Given the description of an element on the screen output the (x, y) to click on. 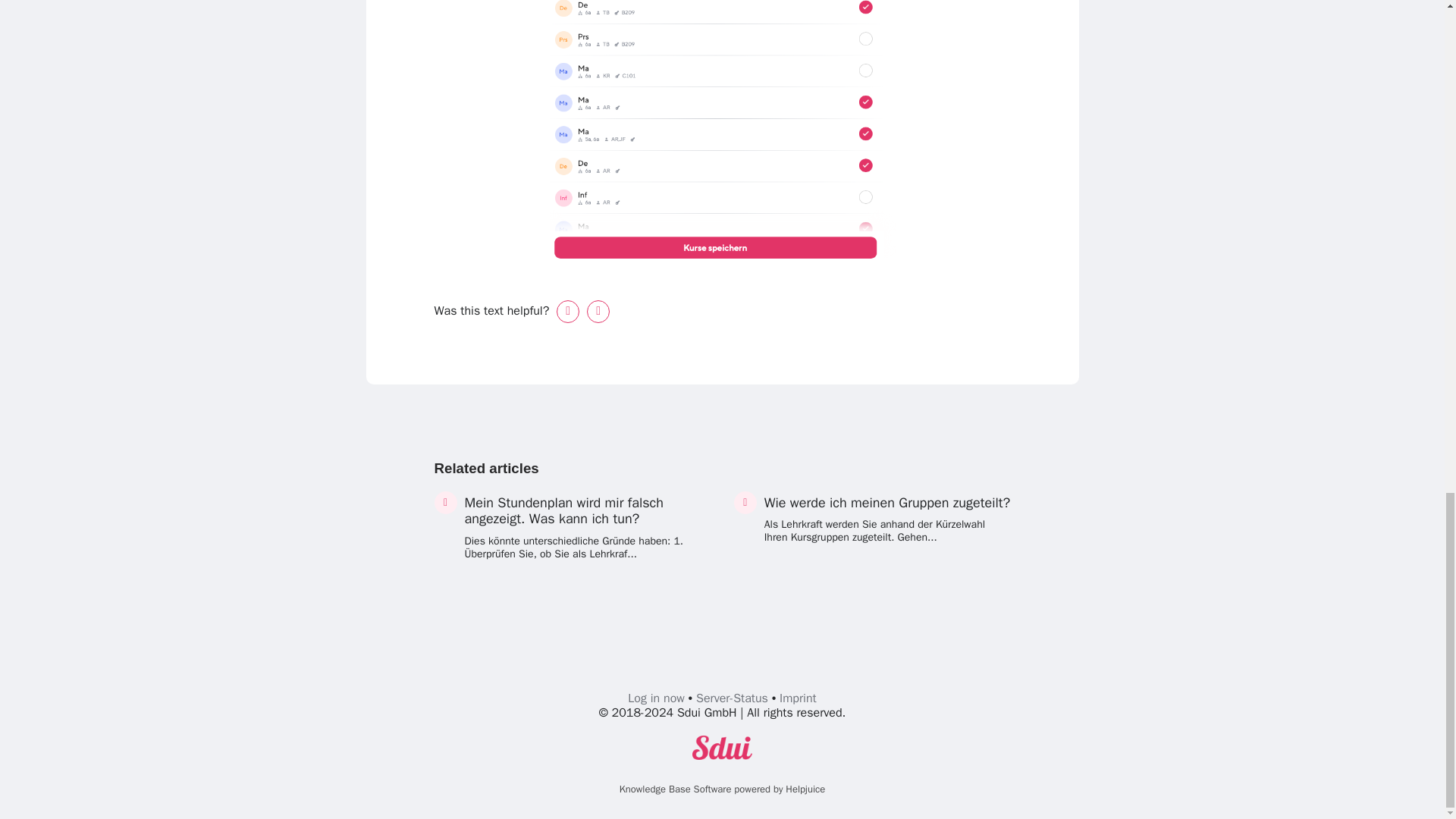
Imprint (797, 698)
Knowledge Base Software powered by Helpjuice (722, 788)
Server-Status (731, 698)
Log in now (655, 698)
Wie werde ich meinen Gruppen zugeteilt? (887, 502)
